Given the description of an element on the screen output the (x, y) to click on. 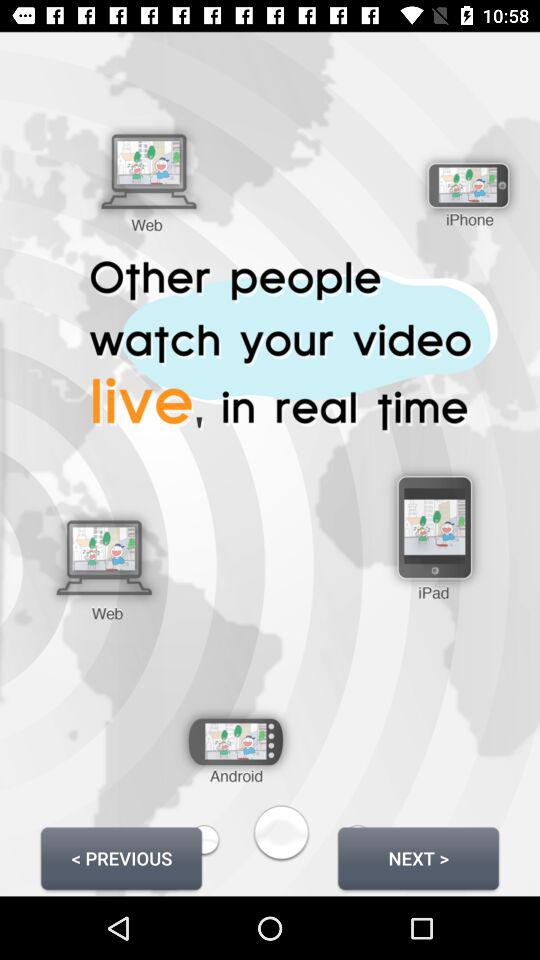
swipe to next > button (418, 858)
